Given the description of an element on the screen output the (x, y) to click on. 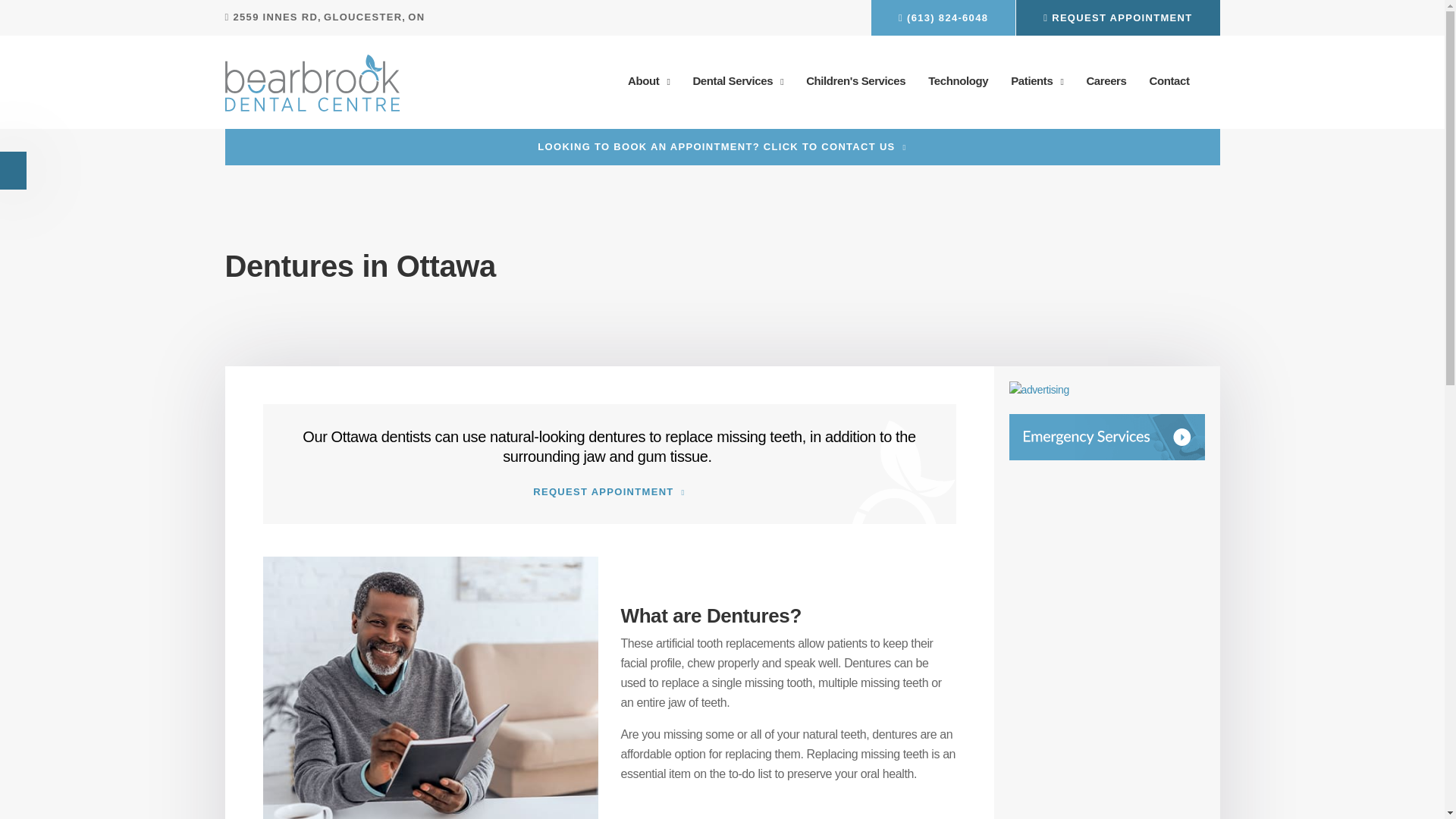
Careers Element type: text (1105, 81)
REQUEST APPOINTMENT Element type: text (608, 491)
LOOKING TO BOOK AN APPOINTMENT? CLICK TO CONTACT US Element type: text (721, 146)
Accessible Version Element type: text (13, 170)
About Element type: text (648, 81)
REQUEST APPOINTMENT Element type: text (1117, 17)
Patients Element type: text (1036, 81)
(613) 824-6048 Element type: text (943, 17)
Contact Element type: text (1168, 81)
Children's Services Element type: text (855, 81)
Dental Services Element type: text (737, 81)
Contact Bearbrook Dental Centre, Ottawa Dentist Element type: hover (1106, 437)
Technology Element type: text (957, 81)
Open Search Box Element type: text (1215, 80)
